Given the description of an element on the screen output the (x, y) to click on. 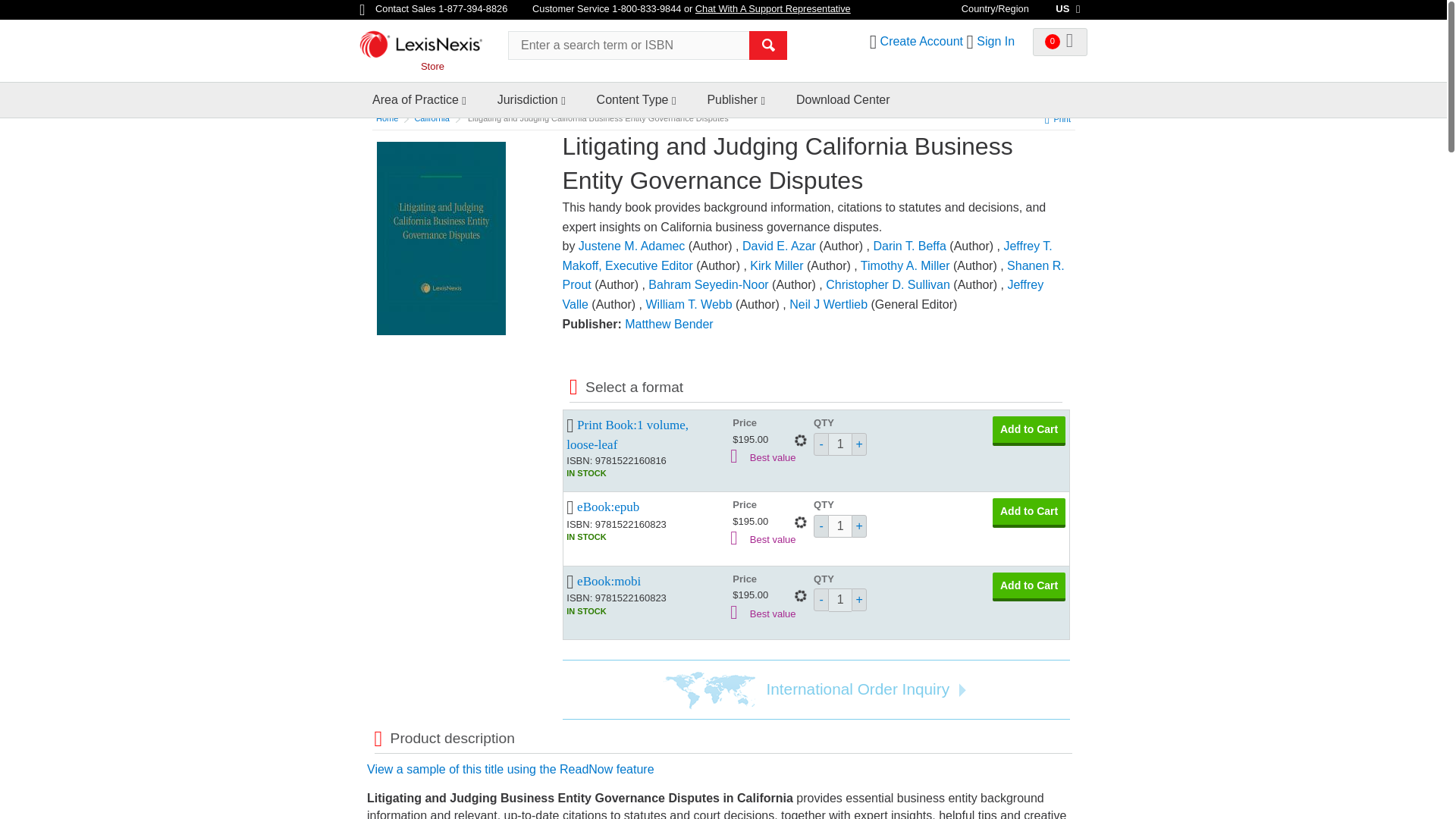
Lexis Nexis Store (427, 48)
Contact Sales 1-877-394-8826 (435, 8)
Create Account (921, 41)
Area of Practice (415, 99)
1 (839, 526)
Sign In (995, 41)
Search (768, 45)
1 (839, 444)
0 (1059, 41)
